Given the description of an element on the screen output the (x, y) to click on. 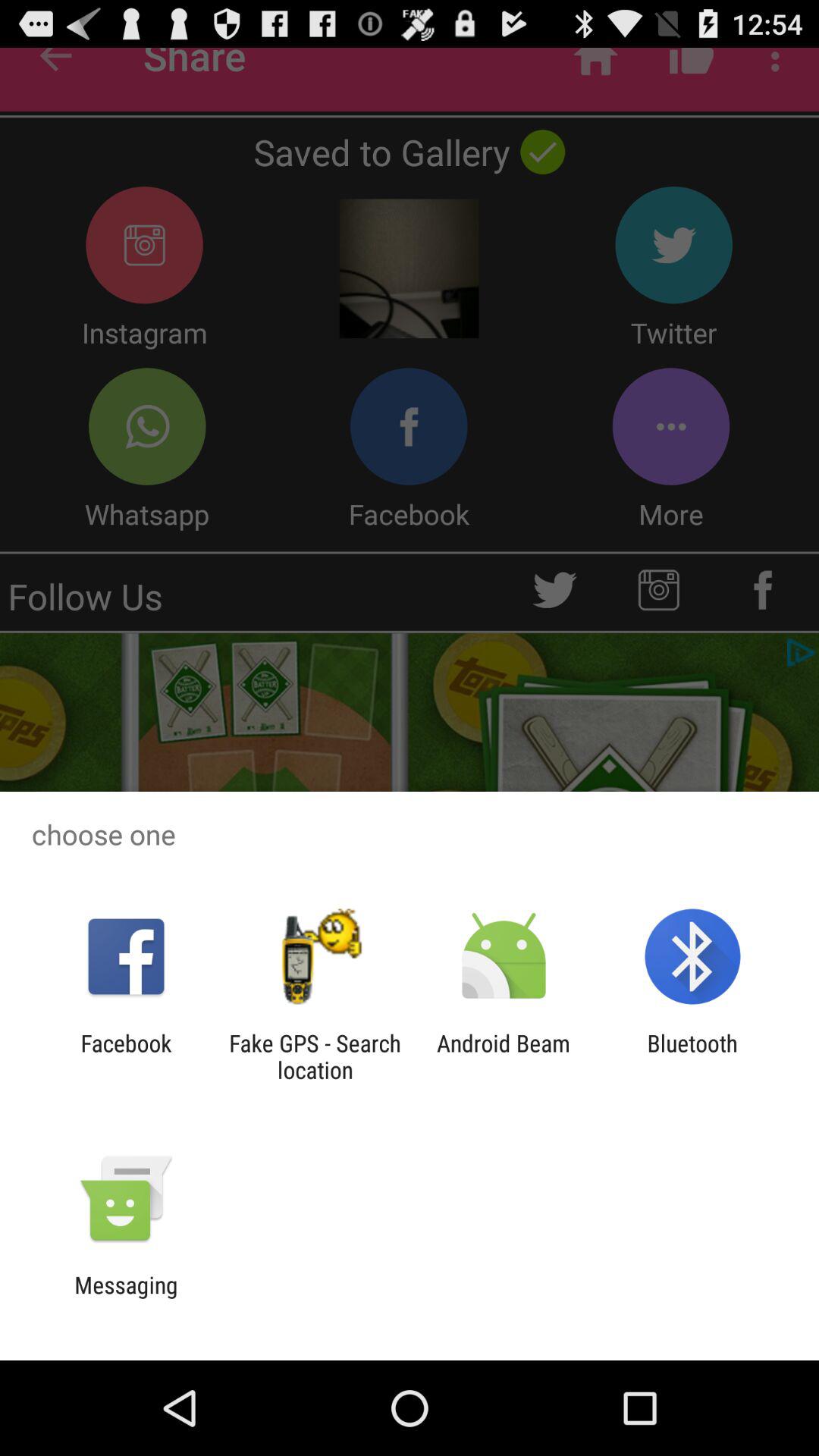
press the icon next to the facebook (314, 1056)
